Given the description of an element on the screen output the (x, y) to click on. 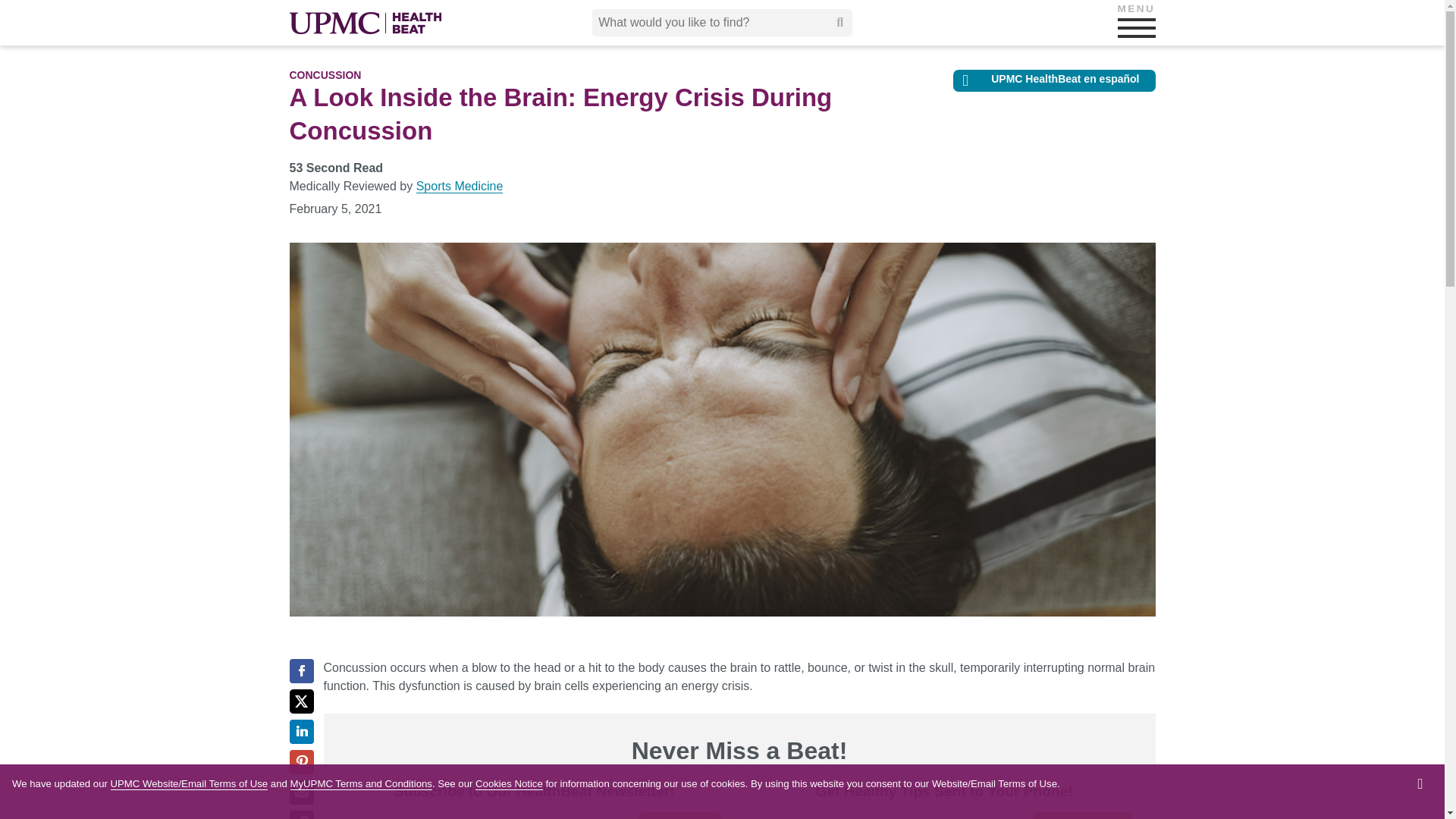
MyUPMC Terms and Conditions (360, 784)
Submit search (839, 22)
Cookies Notice (509, 784)
  MENU (1137, 27)
UPMC HealthBeat (365, 22)
